Given the description of an element on the screen output the (x, y) to click on. 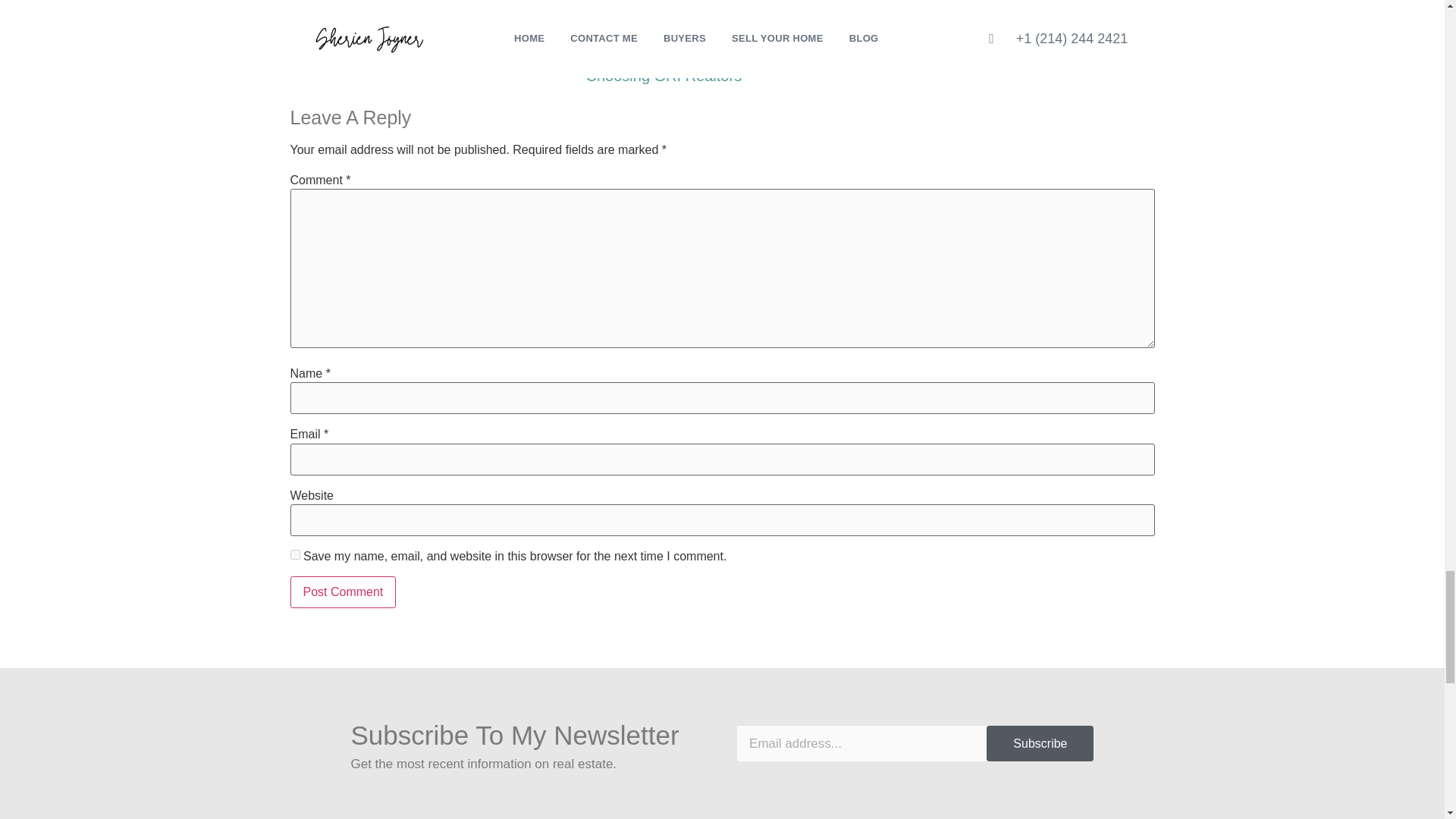
yes (294, 554)
Post Comment (342, 592)
